Given the description of an element on the screen output the (x, y) to click on. 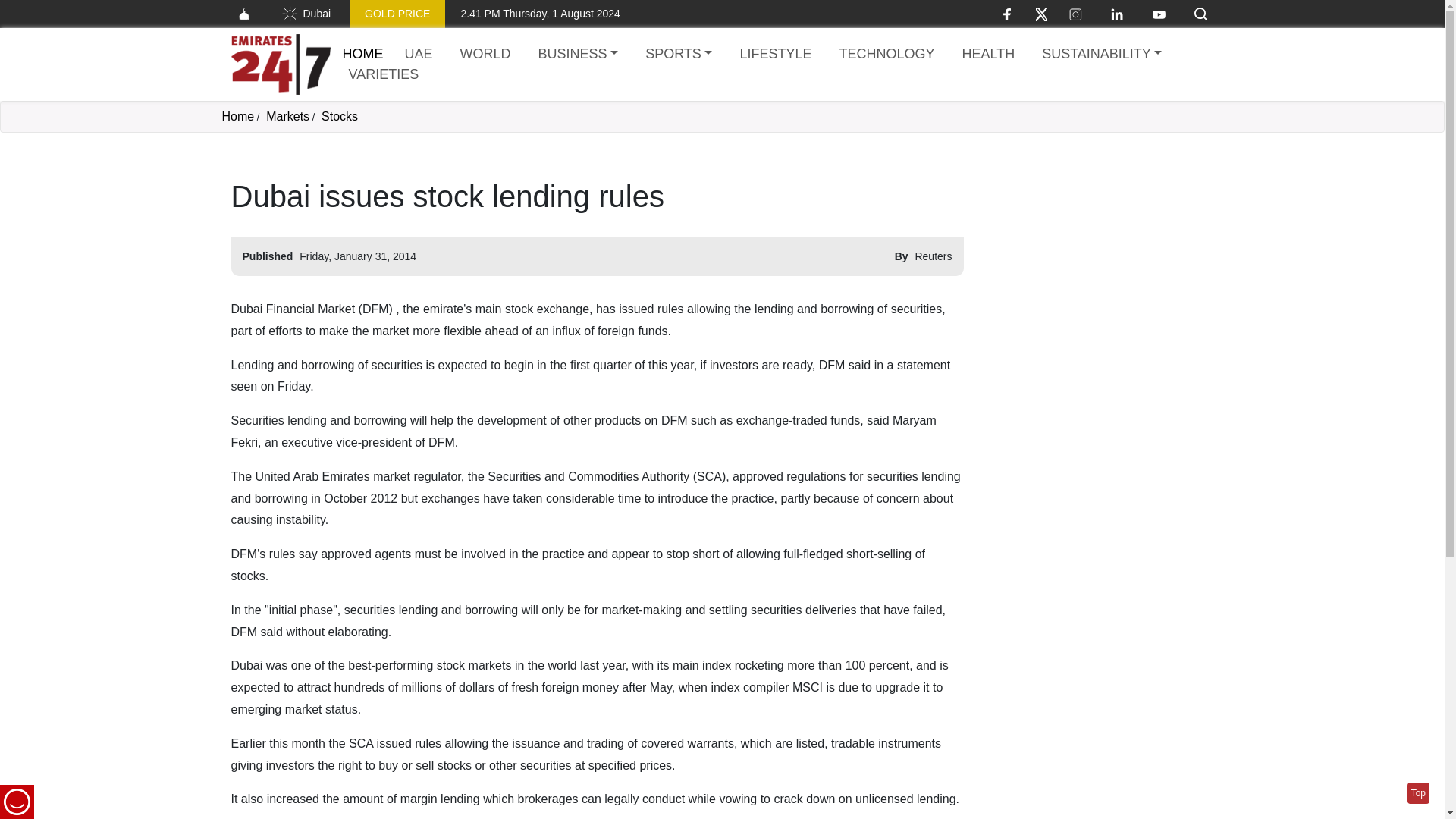
Go to top (271, 13)
TECHNOLOGY (1418, 792)
SUSTAINABILITY (886, 54)
HOME (1101, 54)
GOLD PRICE (363, 53)
Markets (449, 13)
Home (287, 115)
WORLD (280, 64)
Home (485, 54)
